Given the description of an element on the screen output the (x, y) to click on. 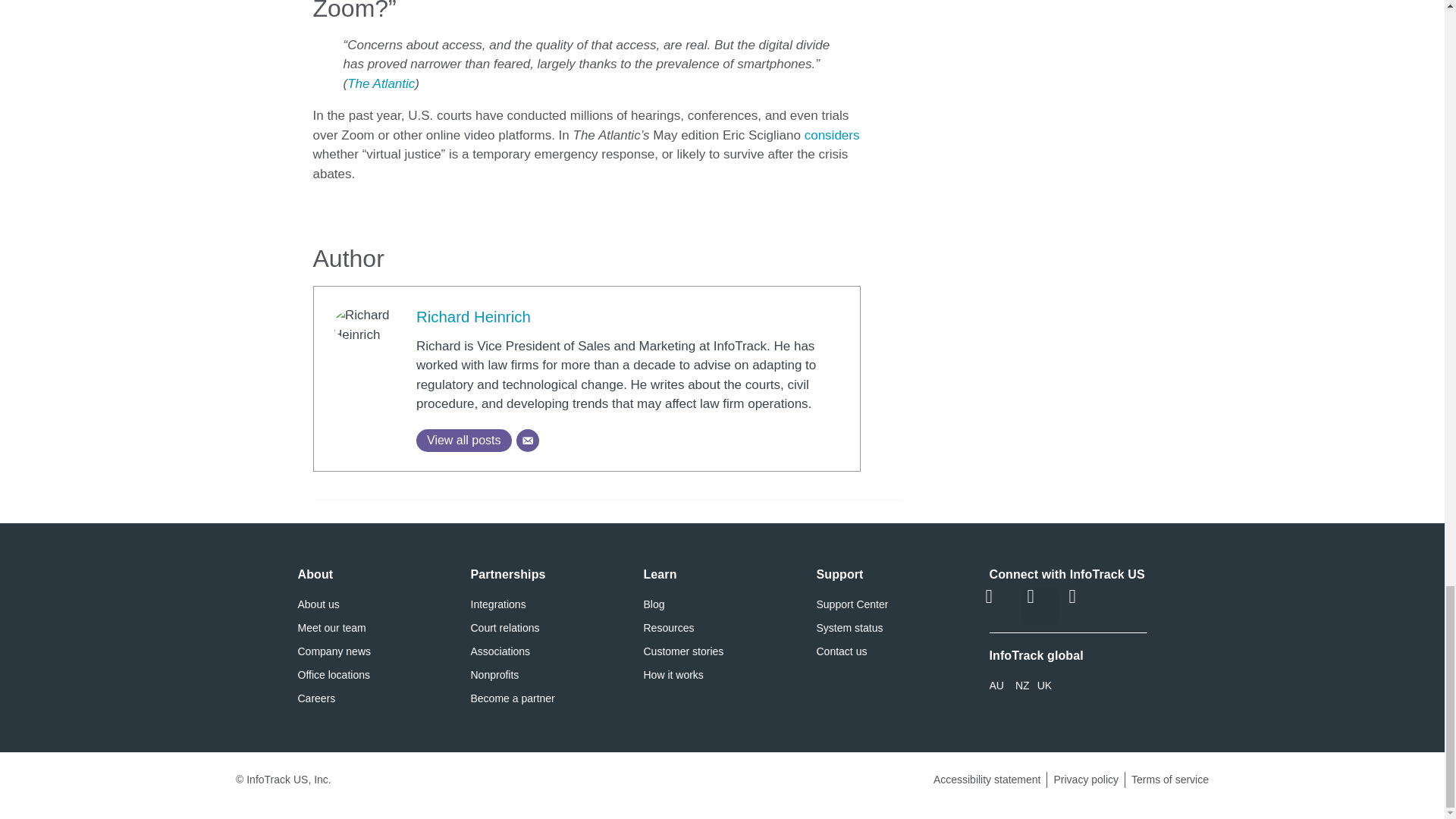
Richard Heinrich (473, 316)
View all posts (464, 440)
View all posts (464, 440)
Richard Heinrich (473, 316)
The Atlantic (380, 83)
considers (832, 134)
